Given the description of an element on the screen output the (x, y) to click on. 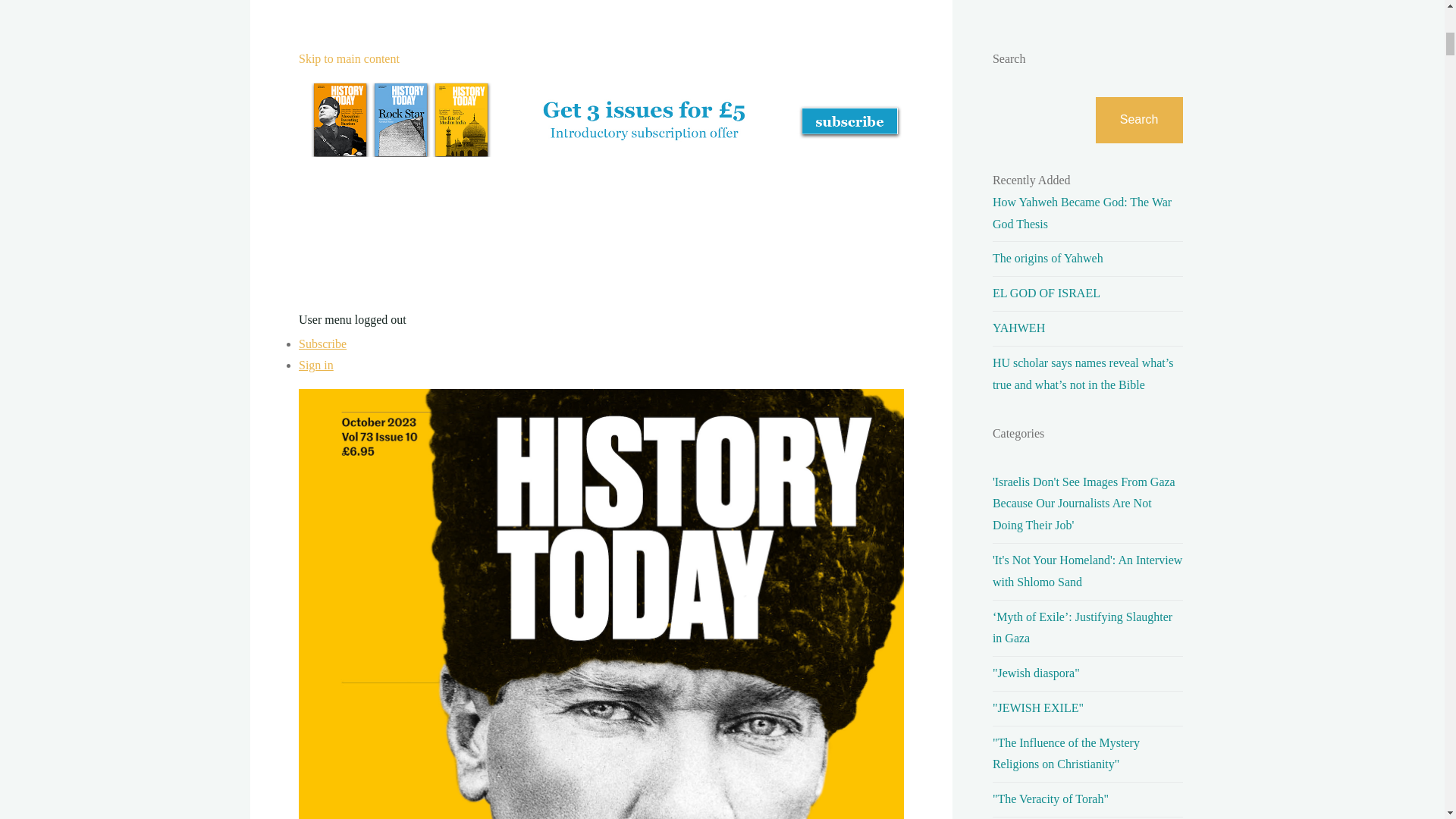
Sign in (315, 364)
Skip to main content (348, 58)
Subscribe (322, 343)
